Given the description of an element on the screen output the (x, y) to click on. 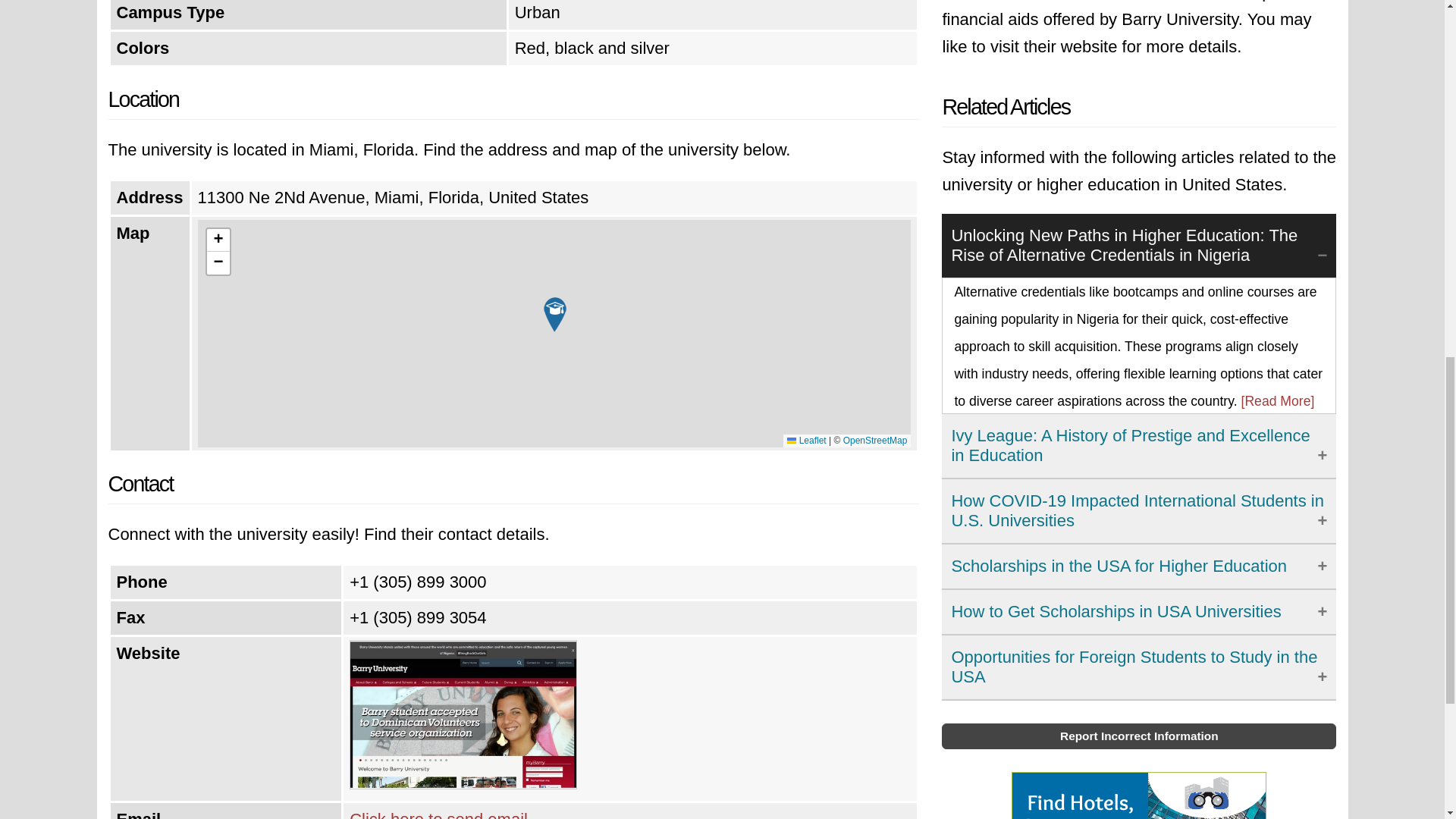
Leaflet (806, 439)
OpenStreetMap (875, 439)
Scholarships in the USA for Higher Education (1139, 566)
Zoom out (218, 262)
Zoom in (218, 240)
Click here to send email (438, 814)
